Given the description of an element on the screen output the (x, y) to click on. 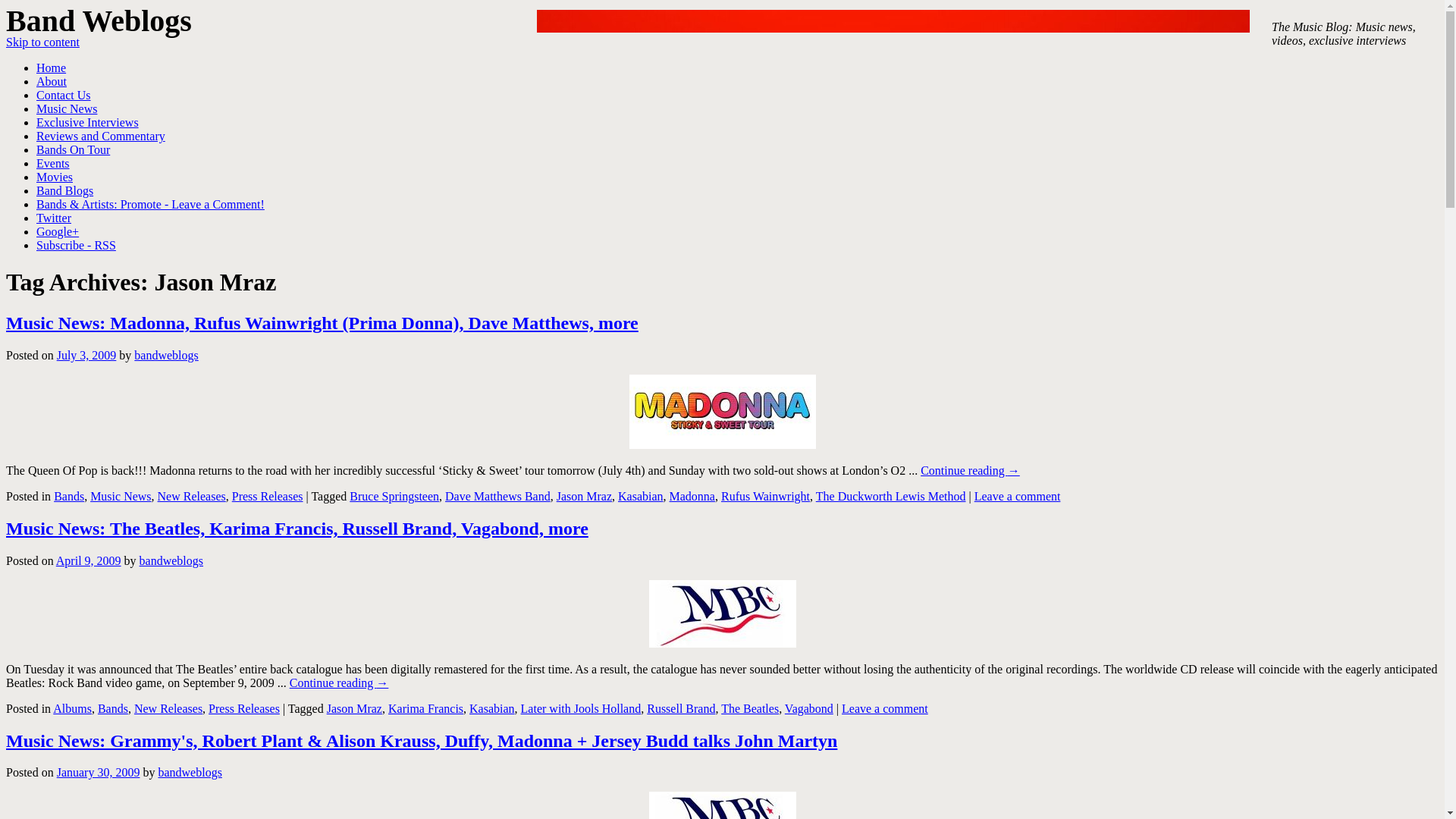
Home (50, 67)
Events (52, 163)
The Duckworth Lewis Method (890, 495)
MBC (722, 613)
Bands On Tour (73, 149)
Music News (66, 108)
Band Weblogs (98, 20)
View all posts in Bands (68, 495)
July 3, 2009 (86, 354)
